Given the description of an element on the screen output the (x, y) to click on. 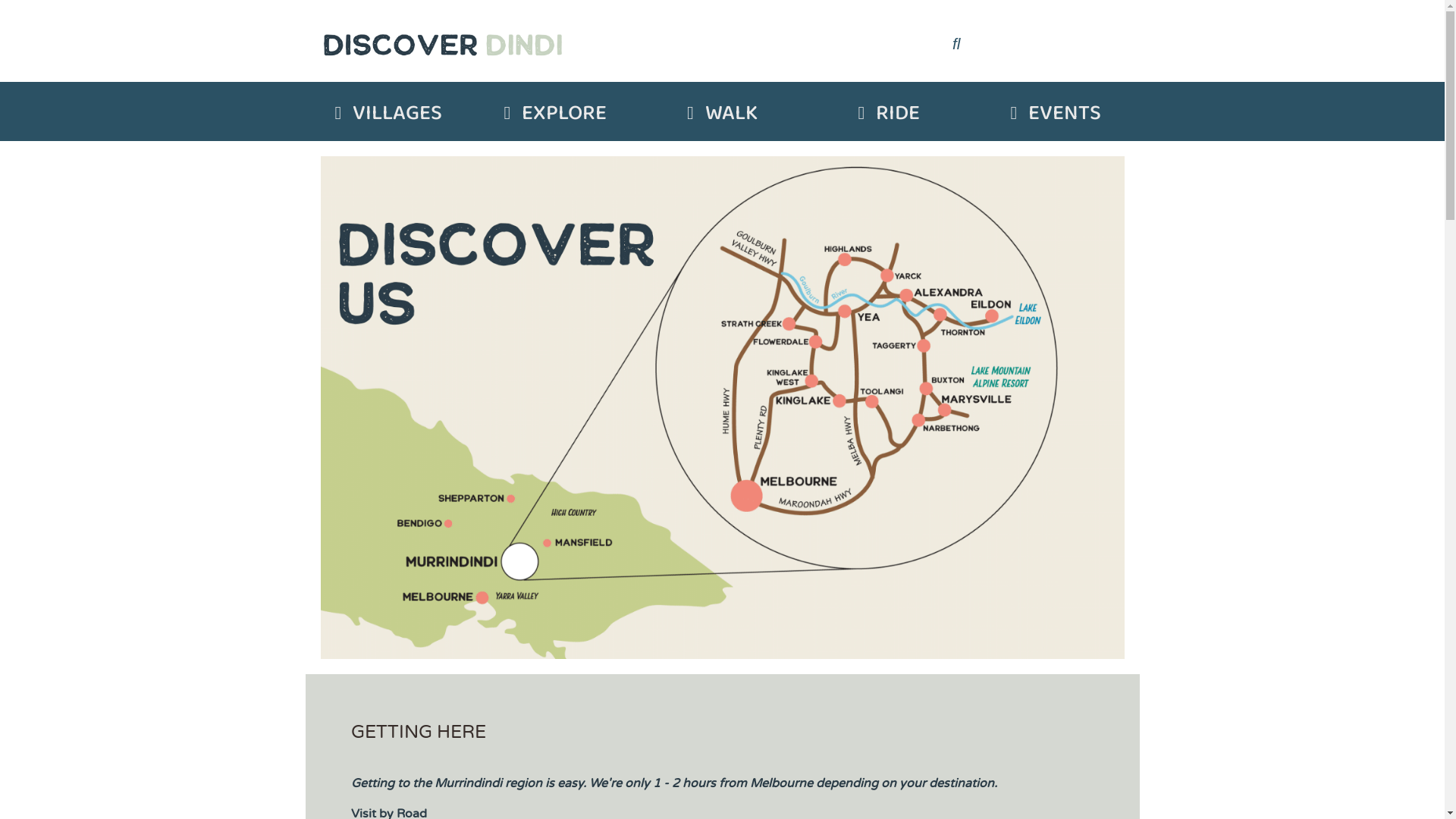
Discover Dindi Heading 1 Element type: hover (443, 40)
EXPLORE Element type: text (563, 112)
RIDE Element type: text (897, 112)
Discover Us Element type: hover (721, 407)
WALK Element type: text (731, 112)
EVENTS Element type: text (1064, 112)
VILLAGES Element type: text (397, 112)
